Given the description of an element on the screen output the (x, y) to click on. 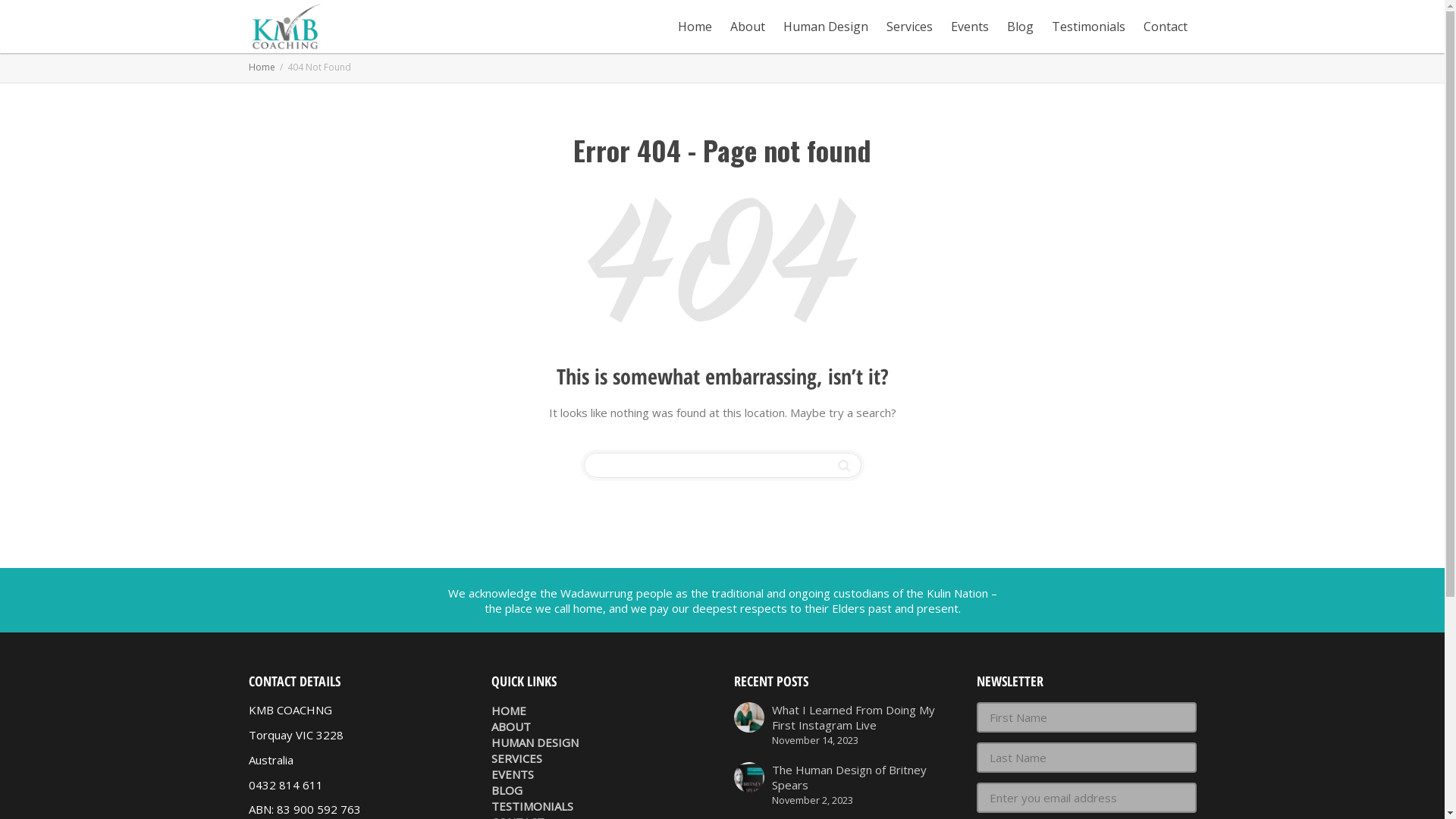
About Element type: text (746, 26)
Human Design Element type: text (824, 26)
Search Element type: text (843, 465)
TESTIMONIALS Element type: text (601, 806)
Home Element type: text (261, 66)
EVENTS Element type: text (601, 774)
Events Element type: text (969, 26)
KMB Coaching Element type: hover (285, 26)
The Human Design of Britney Spears
November 2, 2023 Element type: text (843, 784)
Home Element type: text (694, 26)
SERVICES Element type: text (601, 758)
BLOG Element type: text (601, 790)
HOME Element type: text (601, 710)
Testimonials Element type: text (1087, 26)
Services Element type: text (908, 26)
HUMAN DESIGN Element type: text (601, 742)
Contact Element type: text (1165, 26)
ABOUT Element type: text (601, 726)
Blog Element type: text (1020, 26)
